Given the description of an element on the screen output the (x, y) to click on. 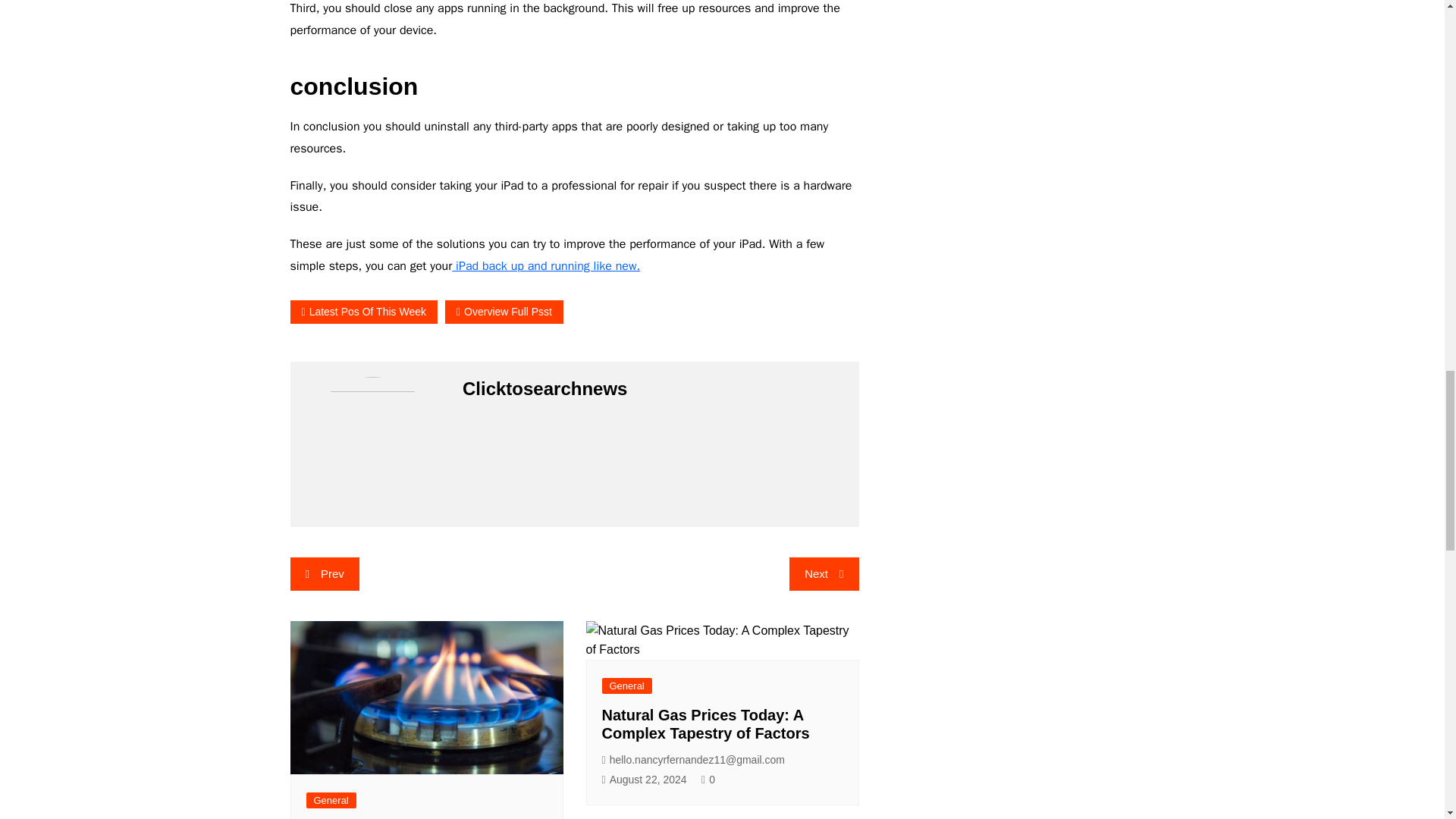
Overview Full Psst (504, 311)
Latest Pos Of This Week (362, 311)
iPad back up and running like new. (545, 265)
